Given the description of an element on the screen output the (x, y) to click on. 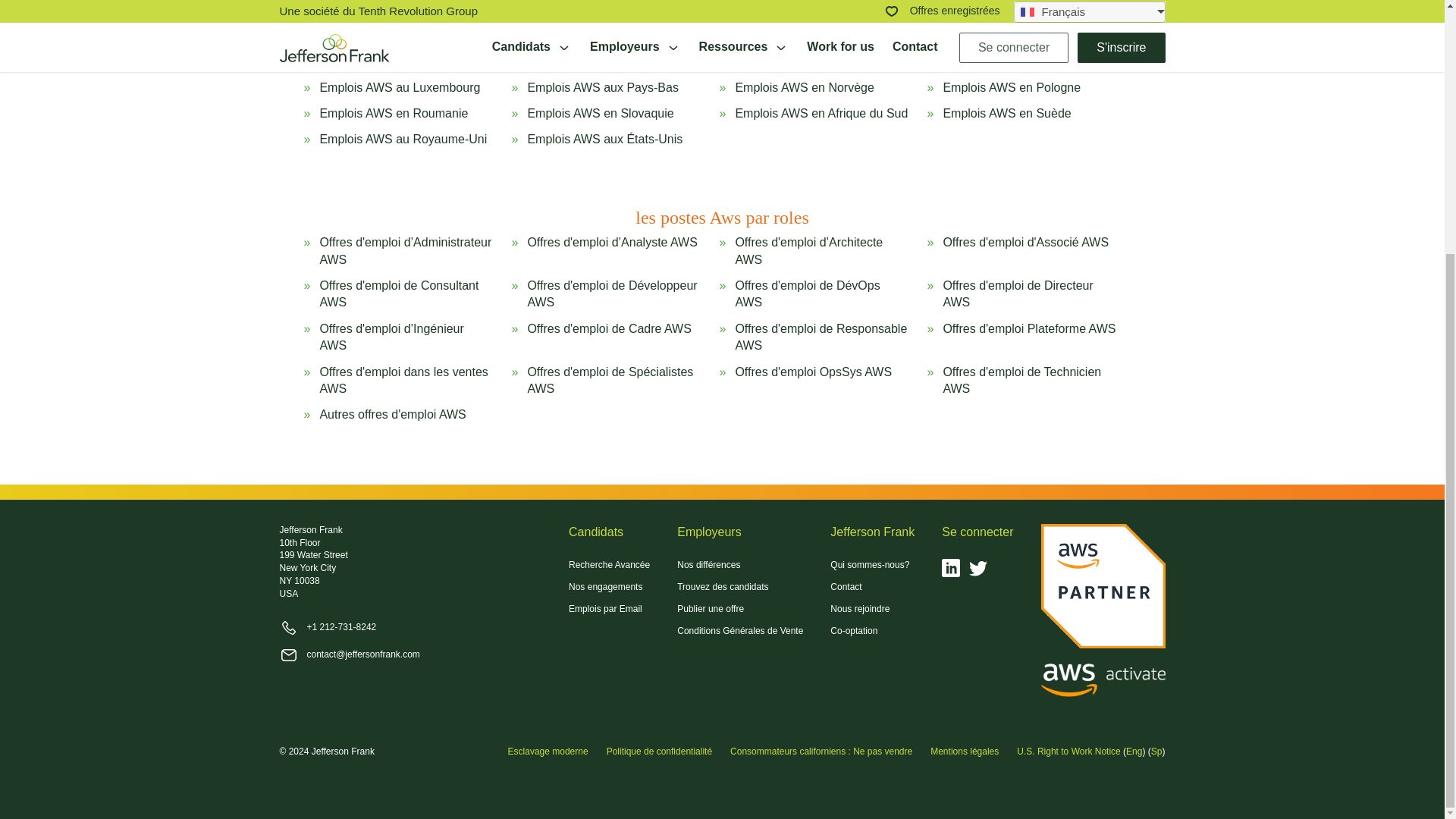
Emplois AWS en Hongrie (594, 61)
Emplois AWS en Suisse (383, 61)
Emplois AWS en Allemagne (1017, 26)
Emplois AWS en Irlande (799, 61)
Emplois AWS en Italie (1001, 61)
Emplois AWS au Danemark (602, 26)
Emplois AWS en Finlande (805, 26)
